Given the description of an element on the screen output the (x, y) to click on. 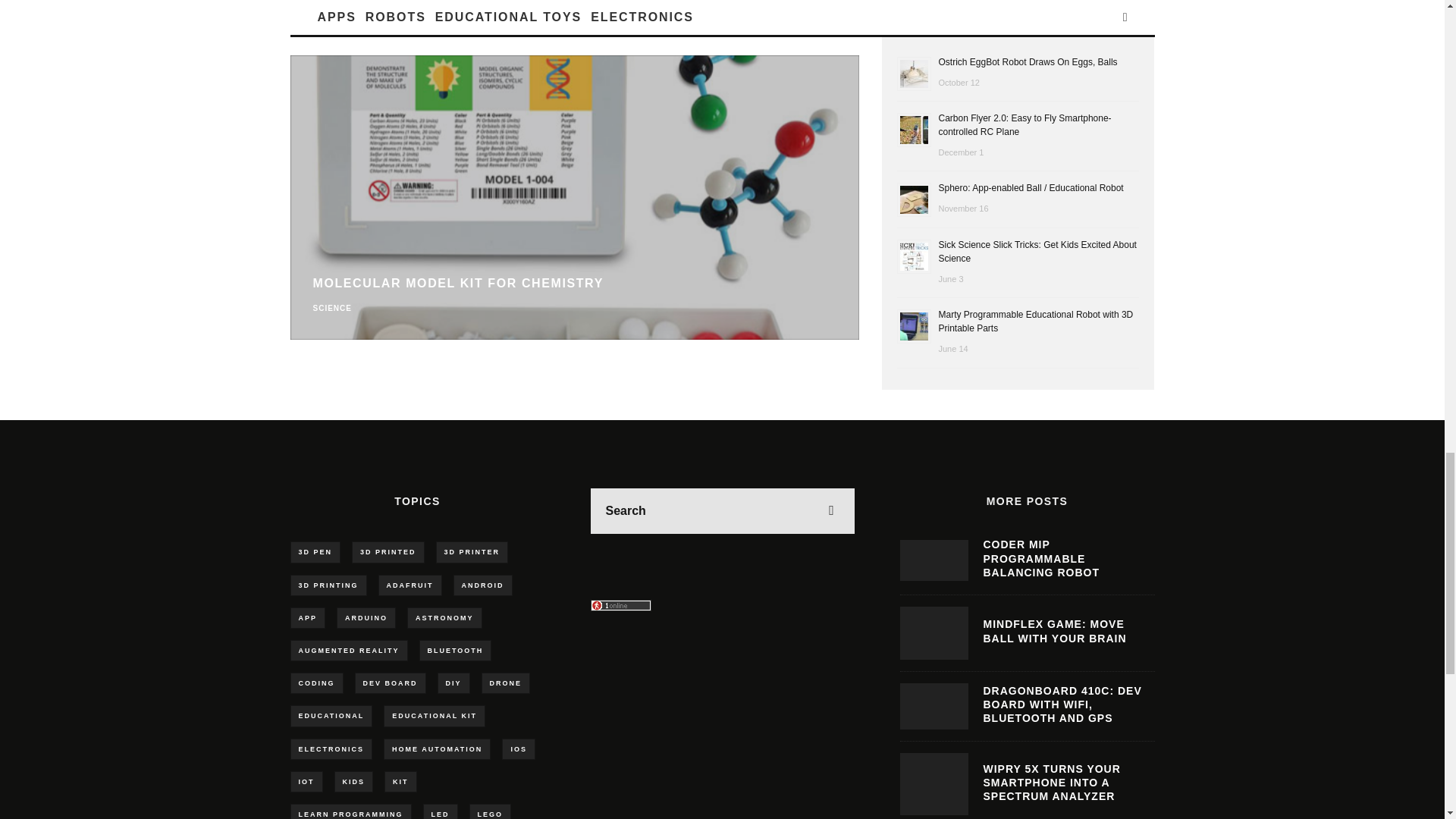
Click to see what's popular on this site! (619, 604)
